Given the description of an element on the screen output the (x, y) to click on. 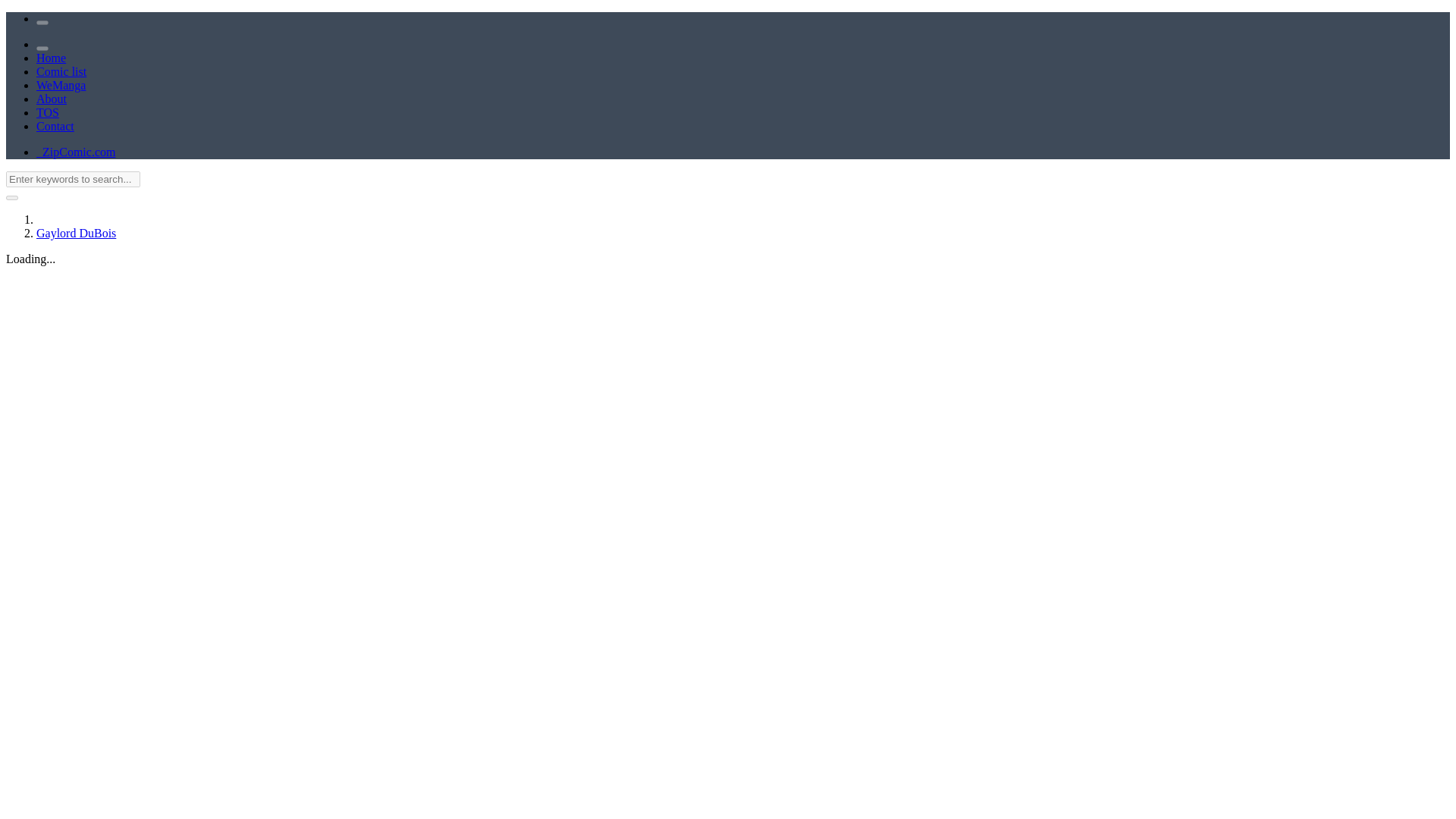
Online read comic and download complete archive zip comic (75, 151)
WeManga (60, 84)
Contact (55, 125)
About (51, 98)
  ZipComic.com (75, 151)
Comic list (60, 71)
TOS (47, 112)
Home (50, 57)
Gaylord DuBois (76, 232)
